Given the description of an element on the screen output the (x, y) to click on. 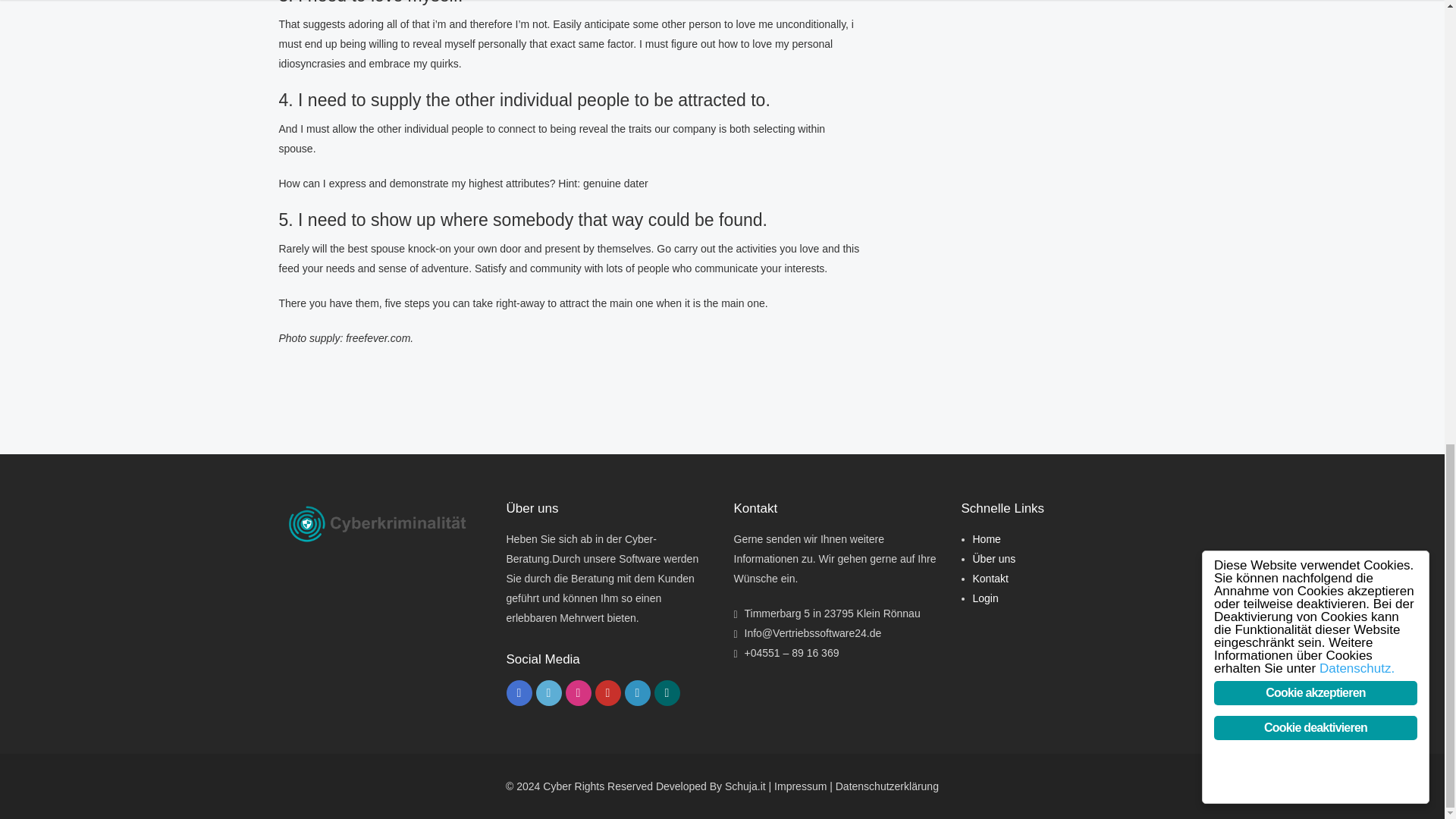
Home (986, 539)
Impressum (800, 786)
Login (984, 598)
Developed By Schuja.it (710, 786)
Kontakt (989, 578)
